Given the description of an element on the screen output the (x, y) to click on. 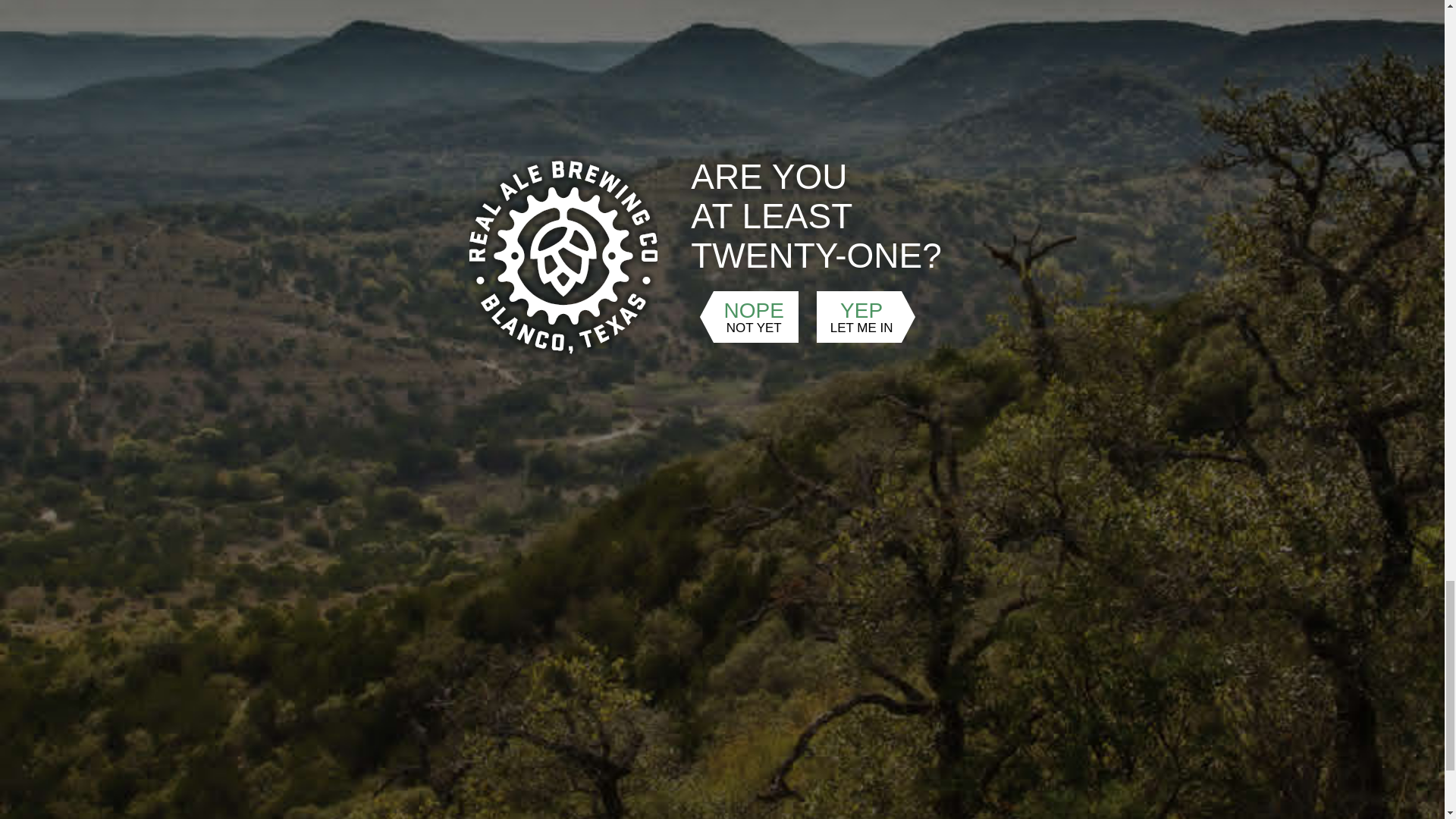
SHARE ON TWITTER (627, 477)
SHARE ON FACEBOOK (595, 477)
Mysterium Verum: An Introduction (615, 378)
instagram (436, 689)
Real Ale Brewing Co. (795, 378)
Vimeo (889, 378)
facebook (489, 689)
twitter (384, 689)
